Given the description of an element on the screen output the (x, y) to click on. 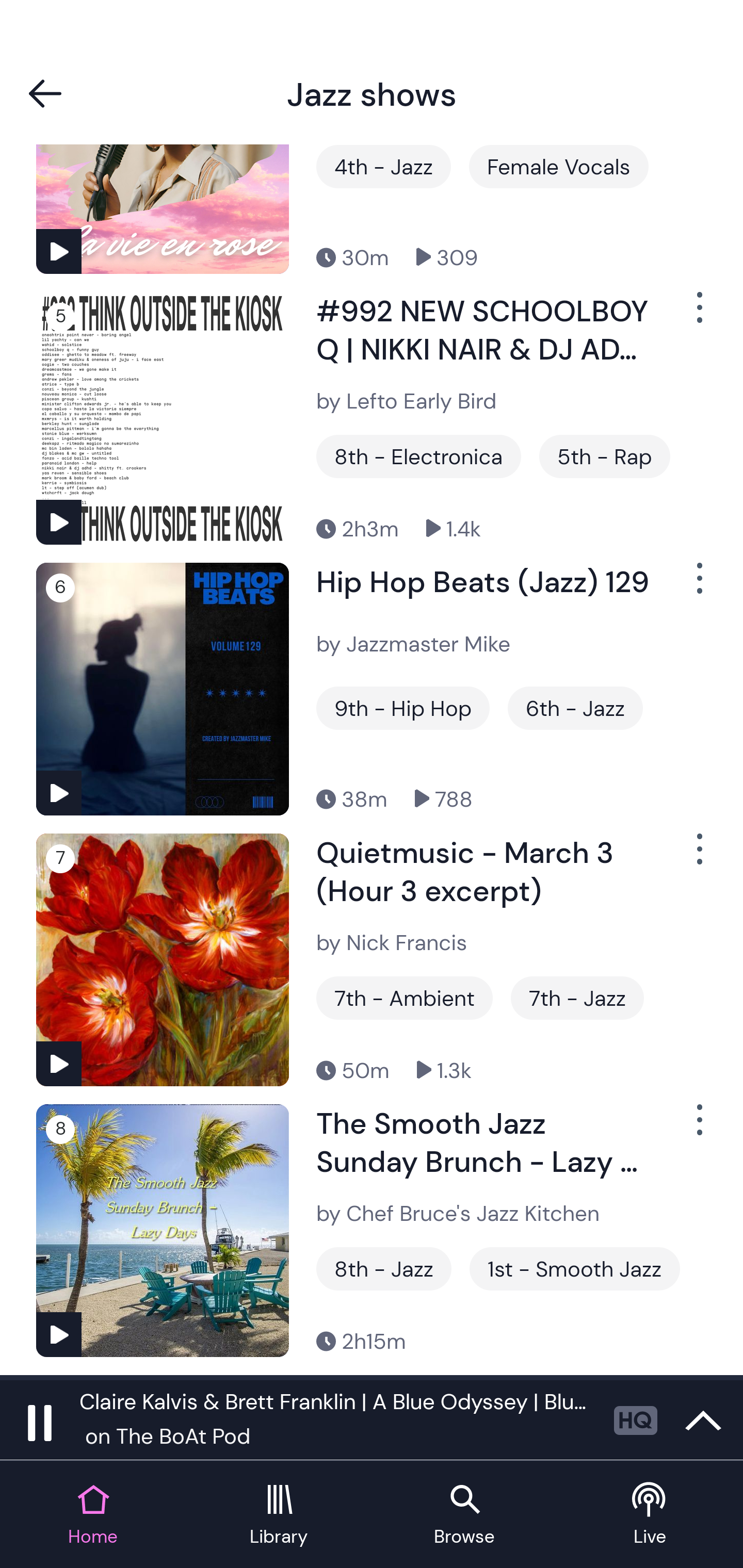
4th - Jazz (383, 166)
Female Vocals (558, 166)
Show Options Menu Button (697, 314)
8th - Electronica (418, 456)
5th - Rap (604, 456)
Show Options Menu Button (697, 585)
9th - Hip Hop (402, 707)
6th - Jazz (574, 707)
Show Options Menu Button (697, 857)
7th - Ambient (404, 997)
7th - Jazz (577, 997)
Show Options Menu Button (697, 1126)
8th - Jazz (383, 1268)
1st - Smooth Jazz (574, 1268)
Home tab Home (92, 1515)
Library tab Library (278, 1515)
Browse tab Browse (464, 1515)
Live tab Live (650, 1515)
